Given the description of an element on the screen output the (x, y) to click on. 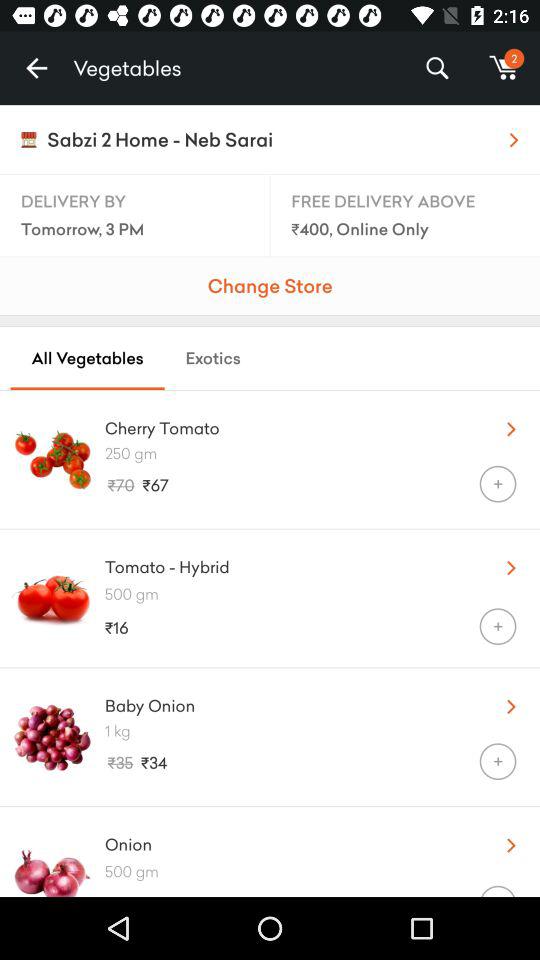
turn on the item below 500 gm item (497, 890)
